Given the description of an element on the screen output the (x, y) to click on. 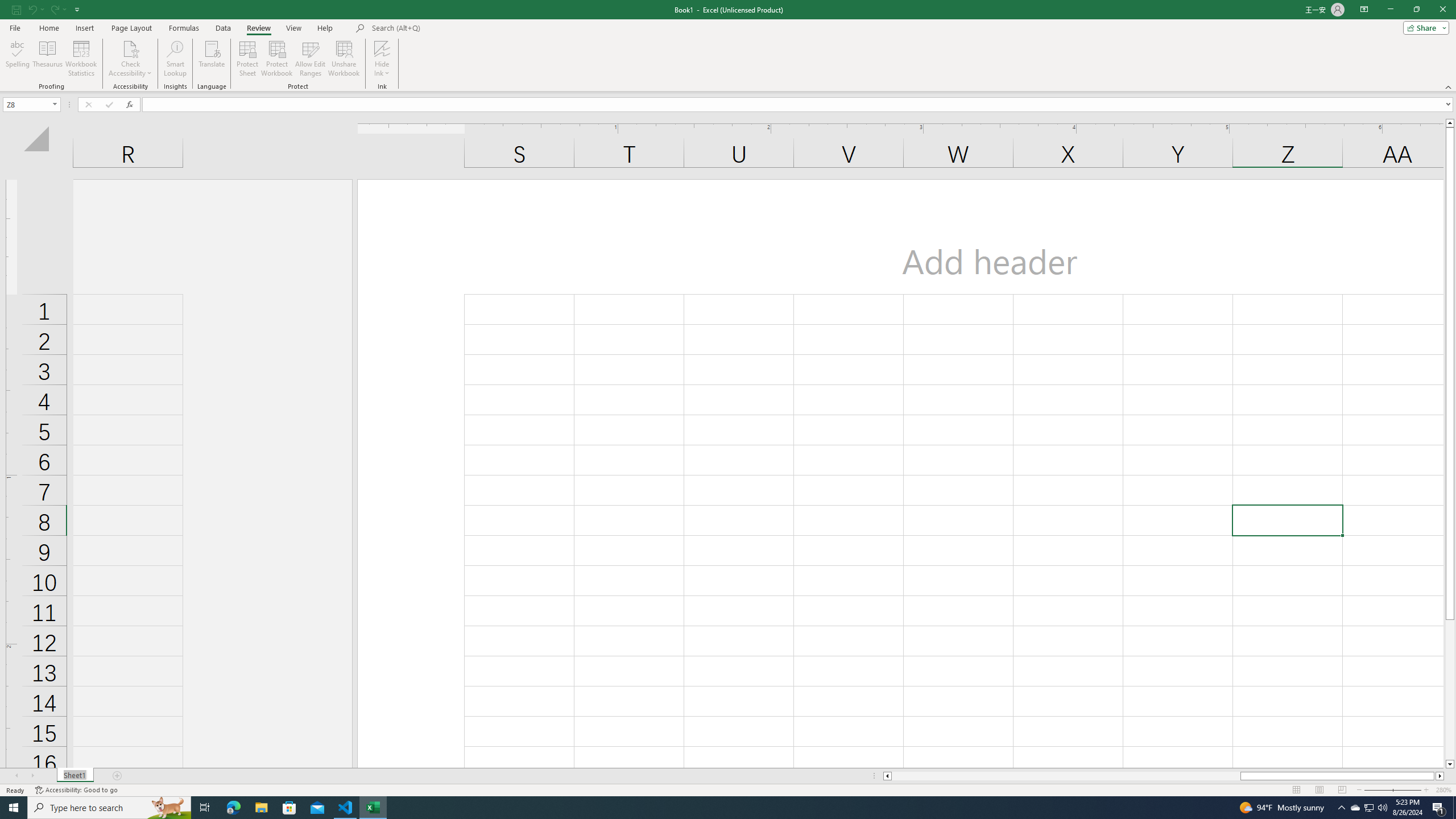
Protect Workbook... (277, 58)
Unshare Workbook (344, 58)
Protect Sheet... (247, 58)
Allow Edit Ranges (310, 58)
